Given the description of an element on the screen output the (x, y) to click on. 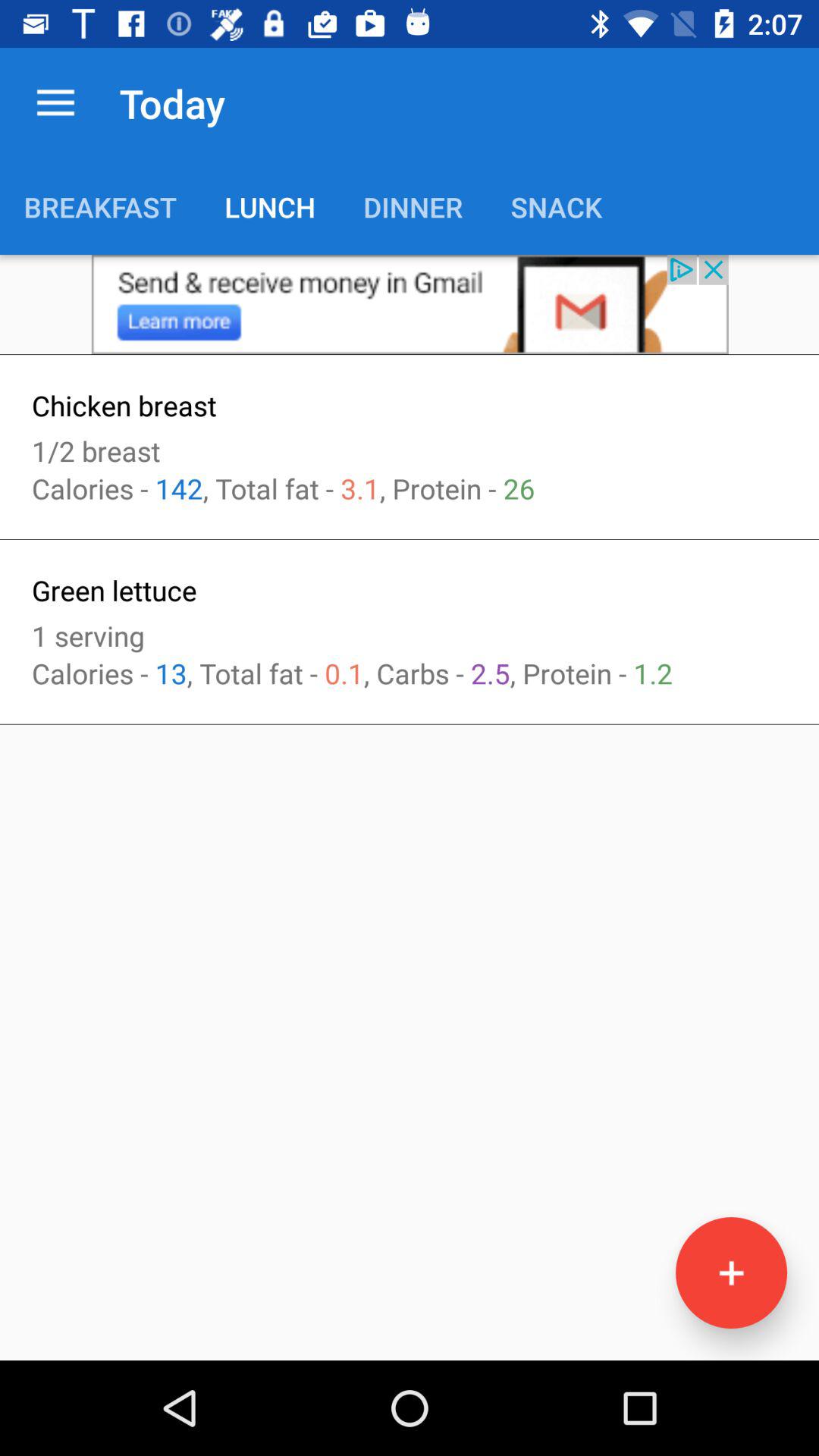
add a receipe (731, 1272)
